Given the description of an element on the screen output the (x, y) to click on. 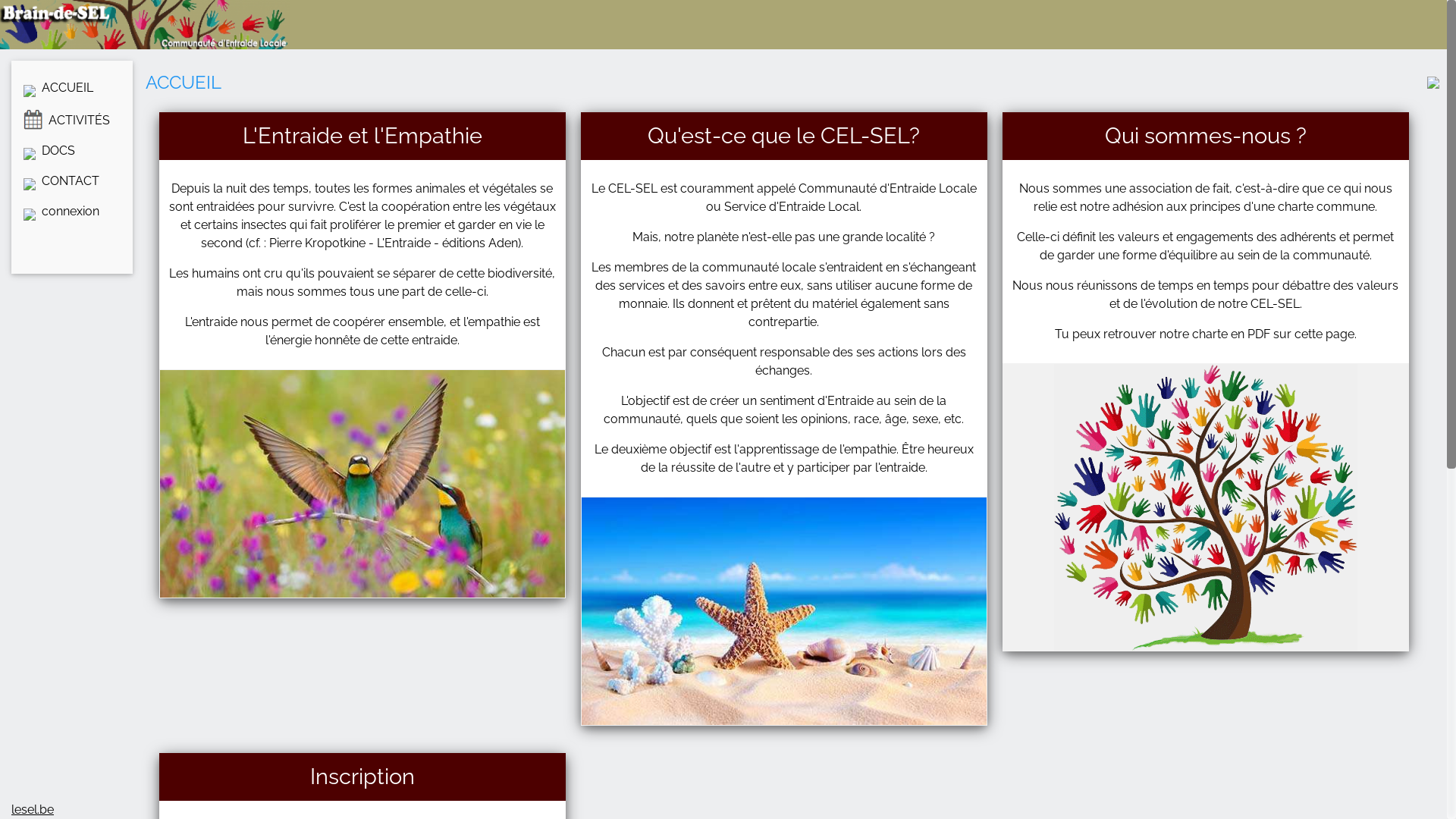
  CONTACT Element type: text (71, 181)
  DOCS Element type: text (71, 150)
  connexion Element type: text (71, 211)
  ACCUEIL Element type: text (71, 87)
